Given the description of an element on the screen output the (x, y) to click on. 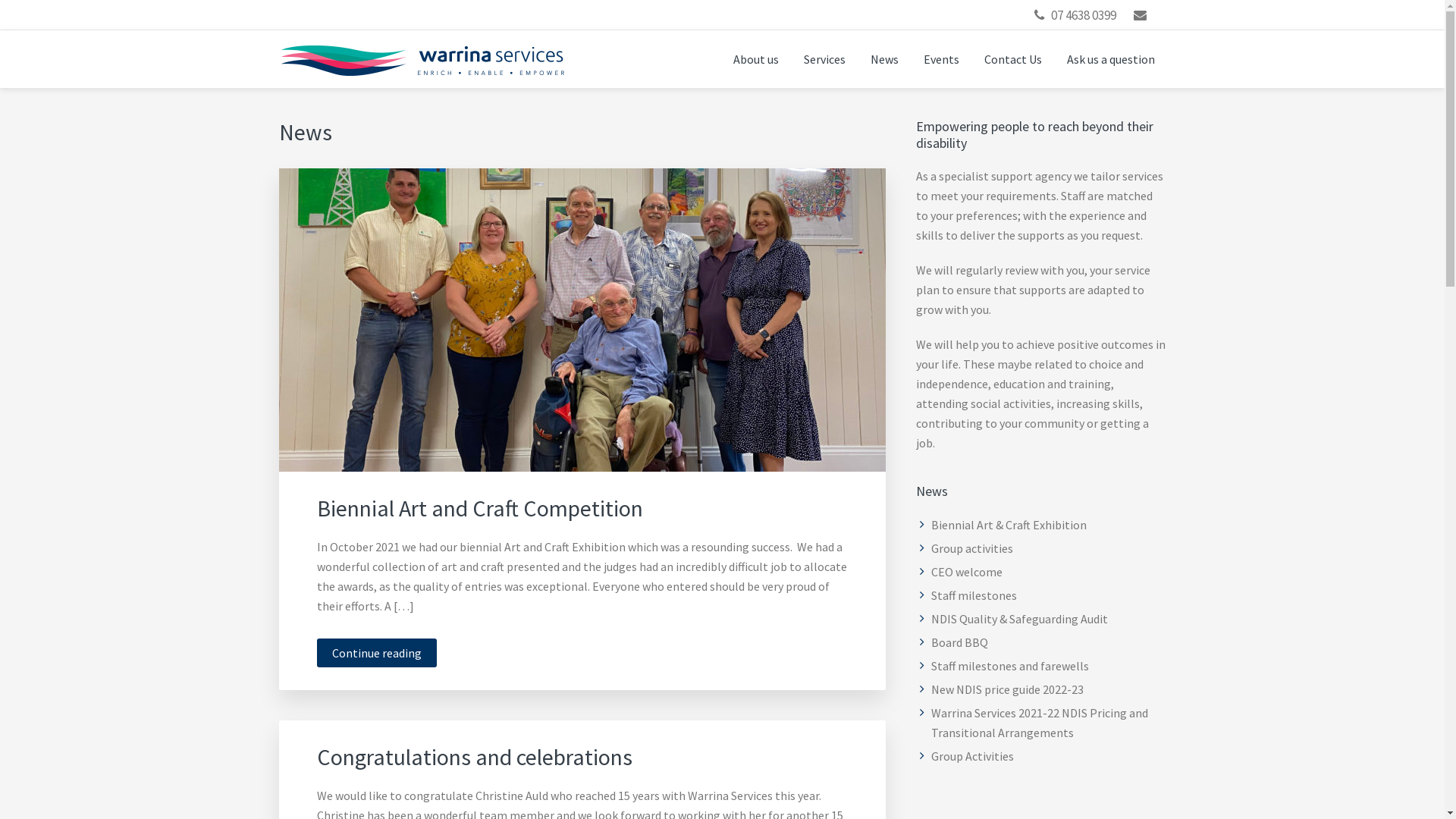
Biennial Art & Craft Exhibition Element type: text (1008, 524)
Congratulations and celebrations Element type: text (474, 756)
New NDIS price guide 2022-23 Element type: text (1007, 688)
Ask us a question Element type: text (1110, 58)
Continue reading Element type: text (376, 652)
Skip to primary navigation Element type: text (0, 0)
Board BBQ Element type: text (959, 641)
Biennial Art and Craft Competition Element type: text (479, 507)
Events Element type: text (940, 58)
Group activities Element type: text (972, 547)
Contact Us Element type: text (1012, 58)
07 4638 0399 Element type: text (1083, 14)
Services Element type: text (823, 58)
NDIS Quality & Safeguarding Audit Element type: text (1019, 618)
CEO welcome Element type: text (966, 571)
News Element type: text (883, 58)
Staff milestones Element type: text (973, 594)
Group Activities Element type: text (972, 755)
Staff milestones and farewells Element type: text (1009, 665)
About us Element type: text (755, 58)
WARRINA SERVICES TOOWOOMBA Element type: text (495, 94)
